Given the description of an element on the screen output the (x, y) to click on. 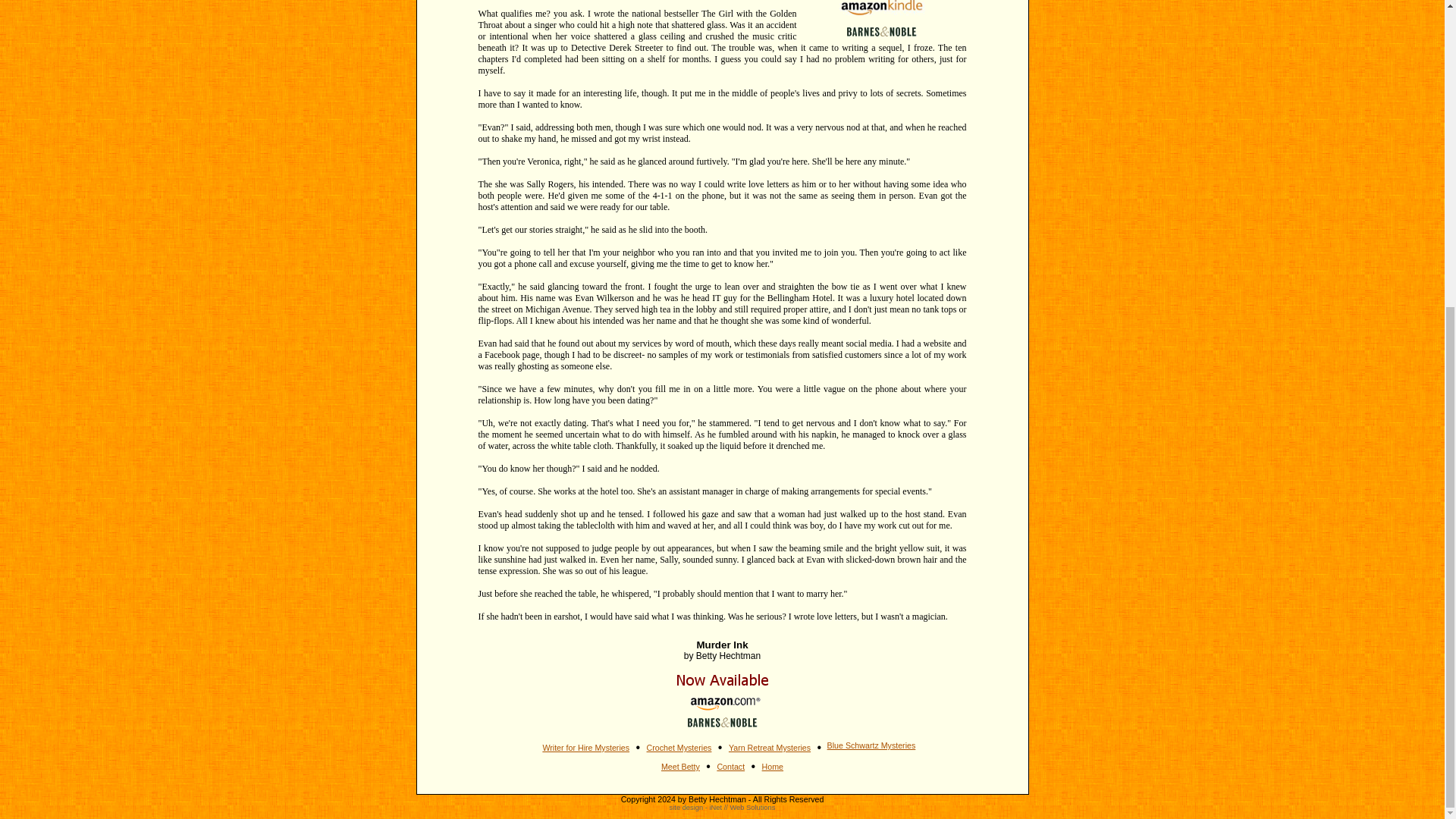
Blue Schwartz Mysteries (871, 745)
Yarn Retreat Mysteries (769, 747)
Home (772, 766)
Contact (730, 766)
Writer for Hire Mysteries (584, 747)
Meet Betty (680, 766)
Crochet Mysteries (678, 747)
